Given the description of an element on the screen output the (x, y) to click on. 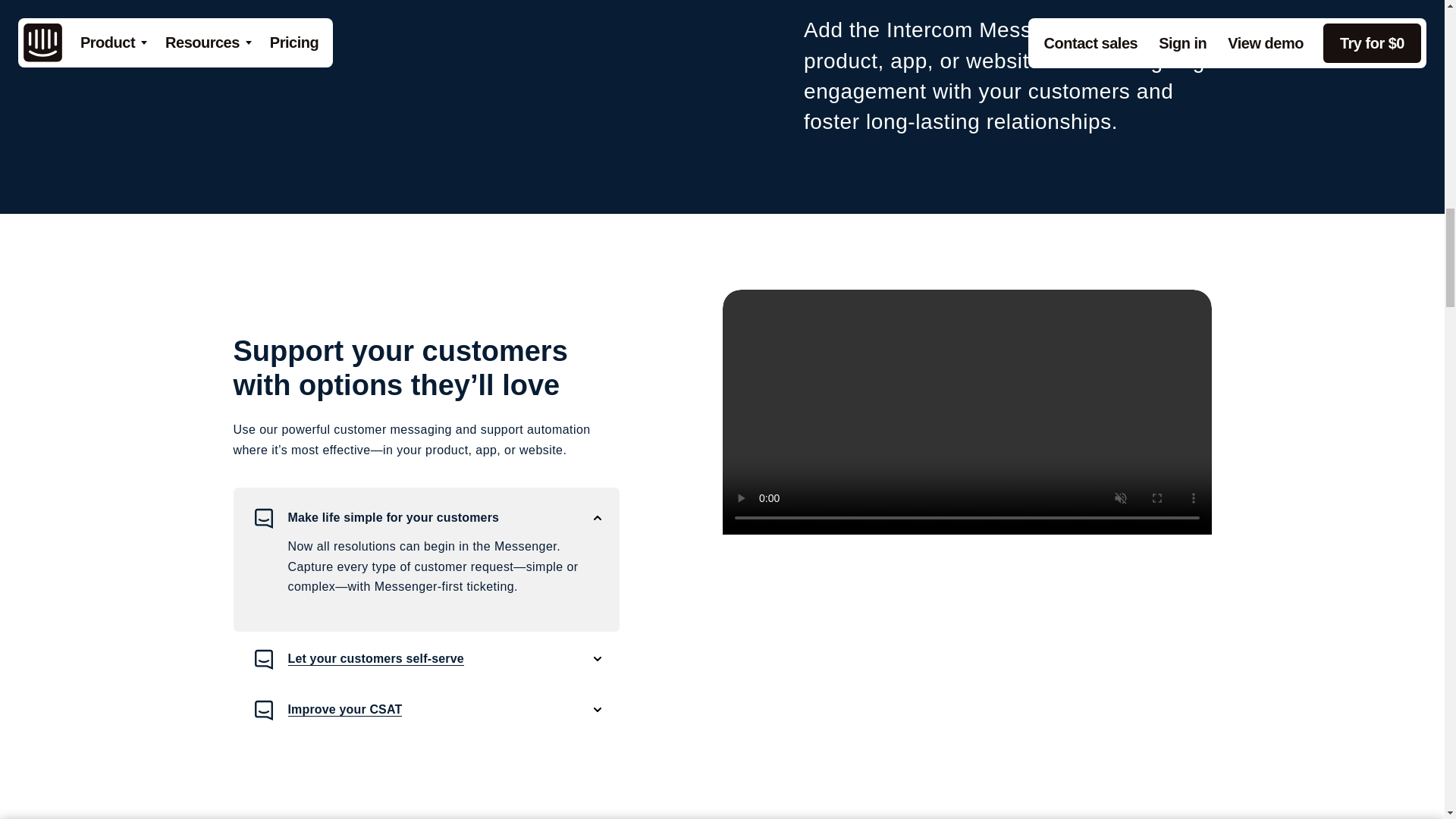
Let your customers self-serve (426, 660)
